Given the description of an element on the screen output the (x, y) to click on. 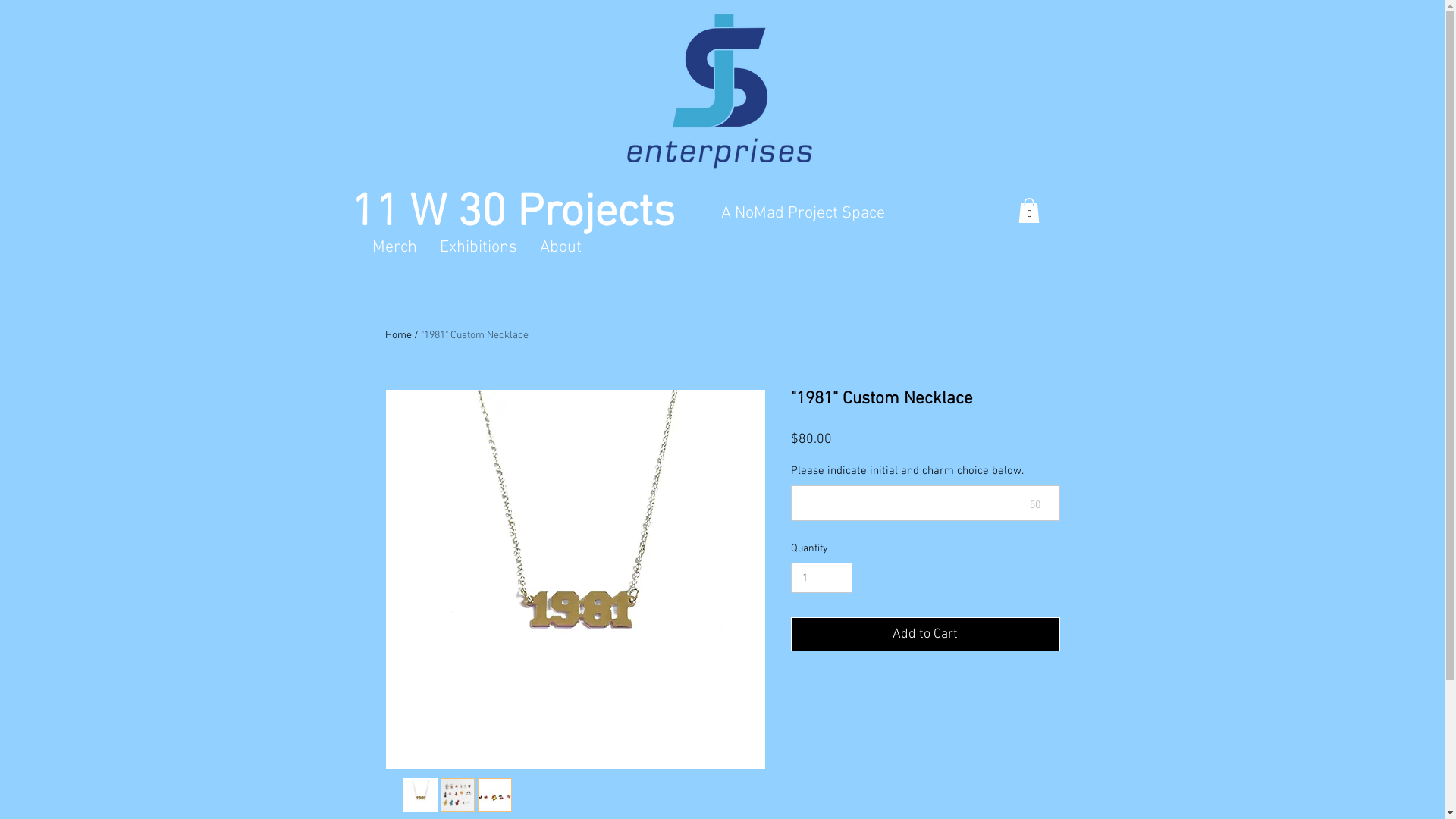
Home Element type: text (398, 335)
Merch Element type: text (394, 245)
Exhibitions Element type: text (477, 245)
Add to Cart Element type: text (924, 634)
0 Element type: text (1027, 209)
"1981" Custom Necklace Element type: text (473, 335)
About Element type: text (559, 245)
11 W 30 Projects Element type: text (512, 213)
